Given the description of an element on the screen output the (x, y) to click on. 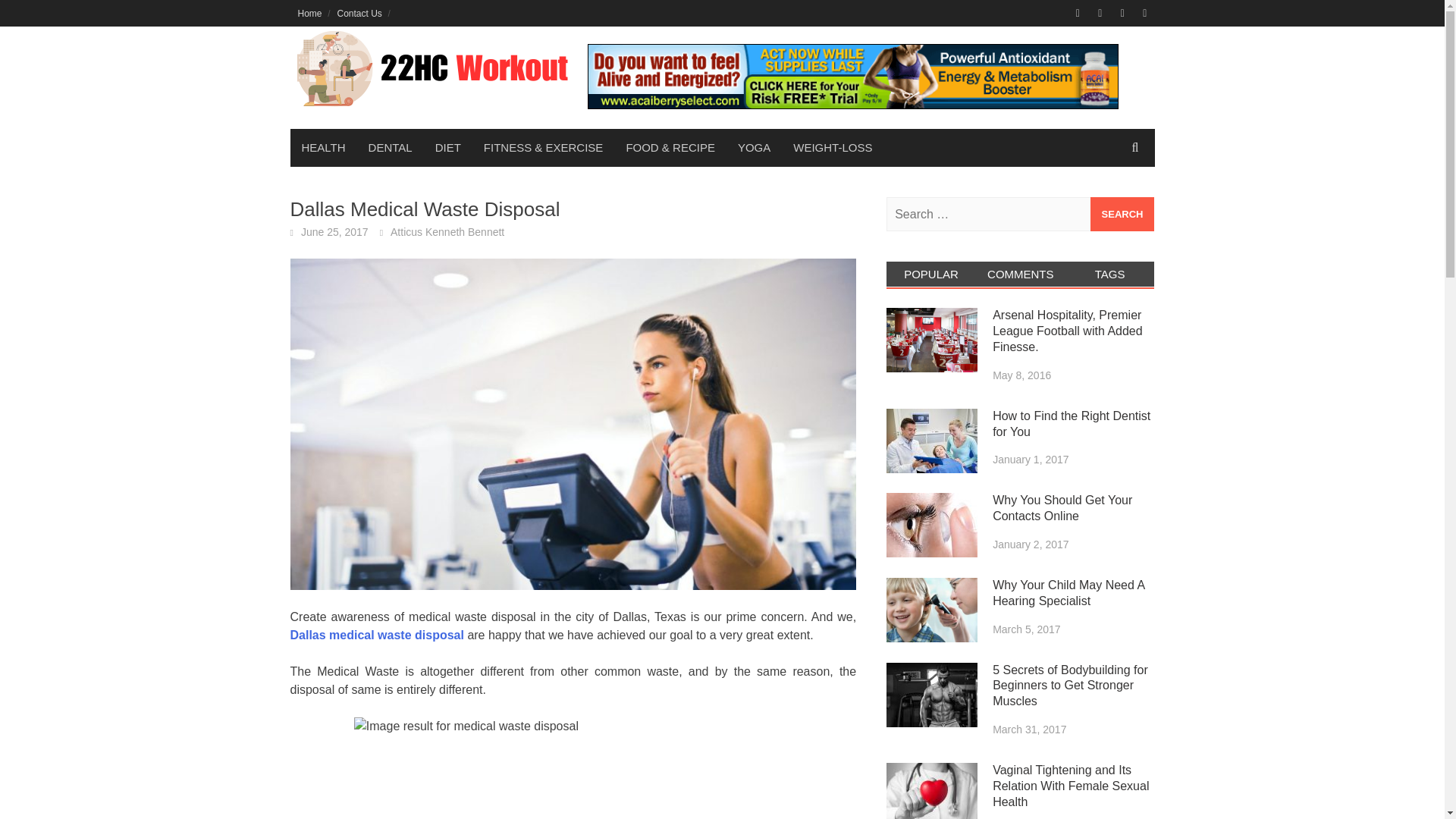
YOGA (753, 147)
Why Your Child May Need A Hearing Specialist (1068, 592)
Atticus Kenneth Bennett (446, 232)
Dallas medical waste disposal (376, 634)
Search (1122, 213)
Why You Should Get Your Contacts Online (1062, 507)
Why You Should Get Your Contacts Online (931, 525)
WEIGHT-LOSS (832, 147)
Contact Us (360, 13)
